Given the description of an element on the screen output the (x, y) to click on. 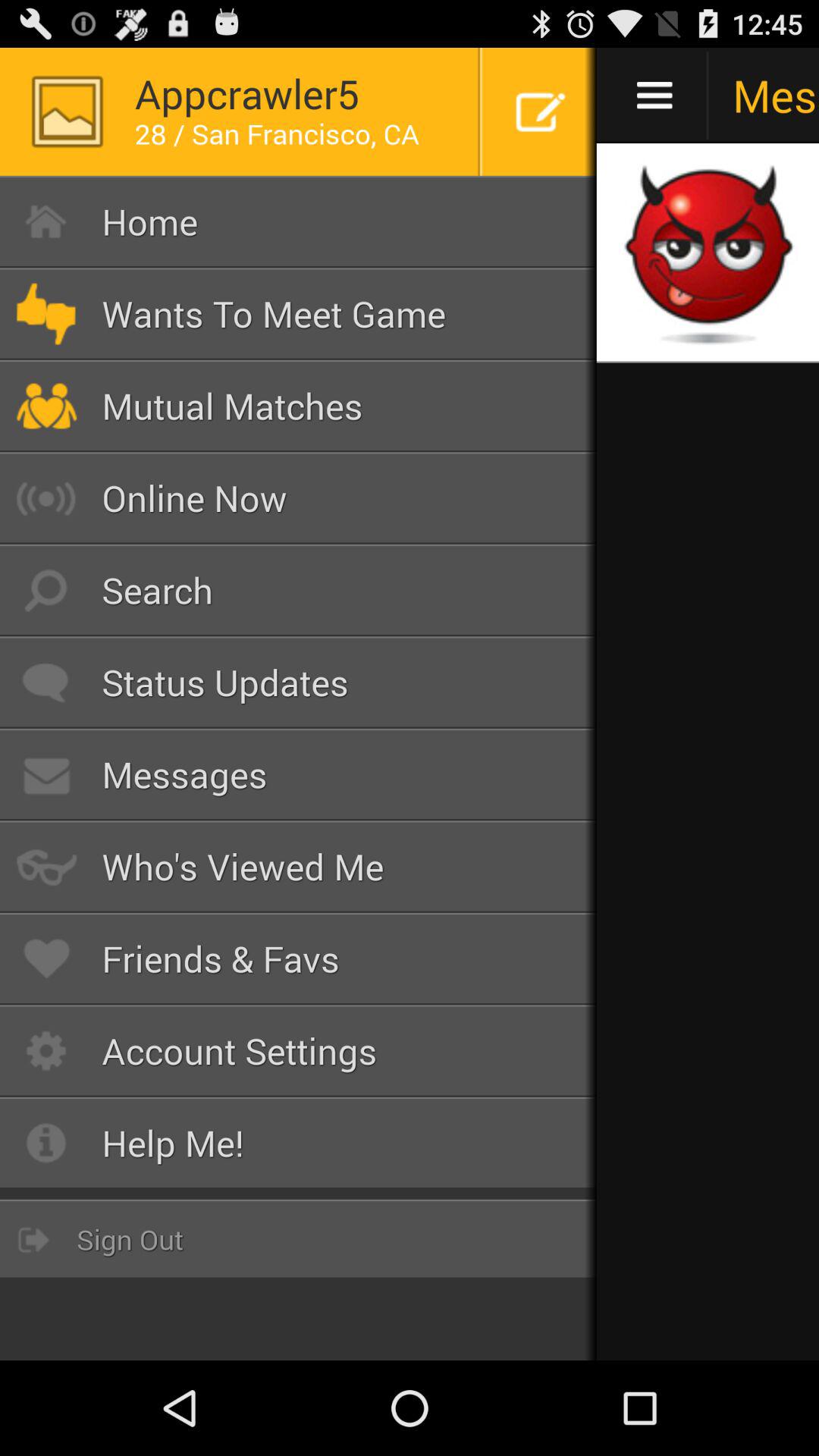
choose the button above the messages item (298, 682)
